Given the description of an element on the screen output the (x, y) to click on. 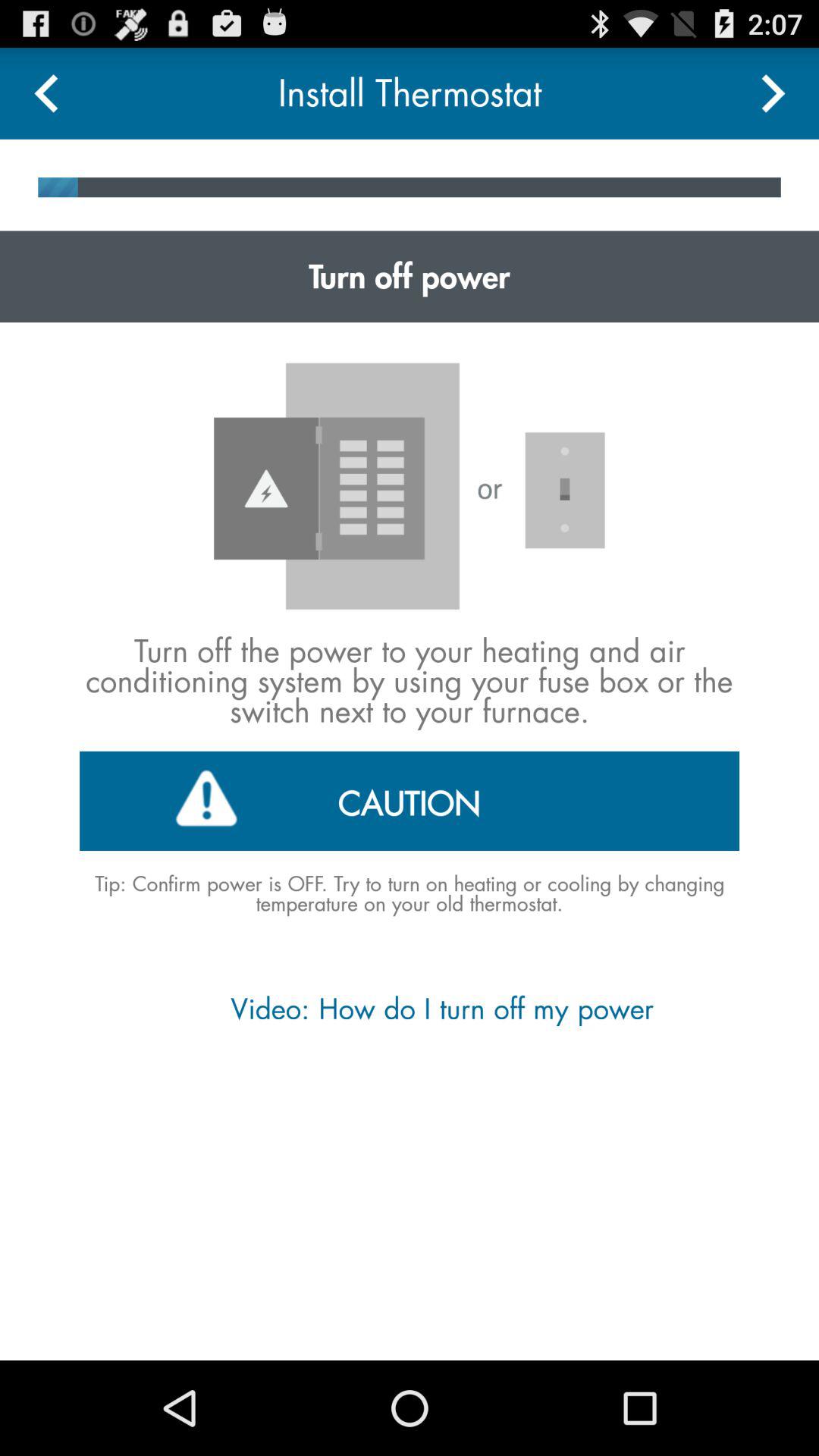
go to next (773, 93)
